Given the description of an element on the screen output the (x, y) to click on. 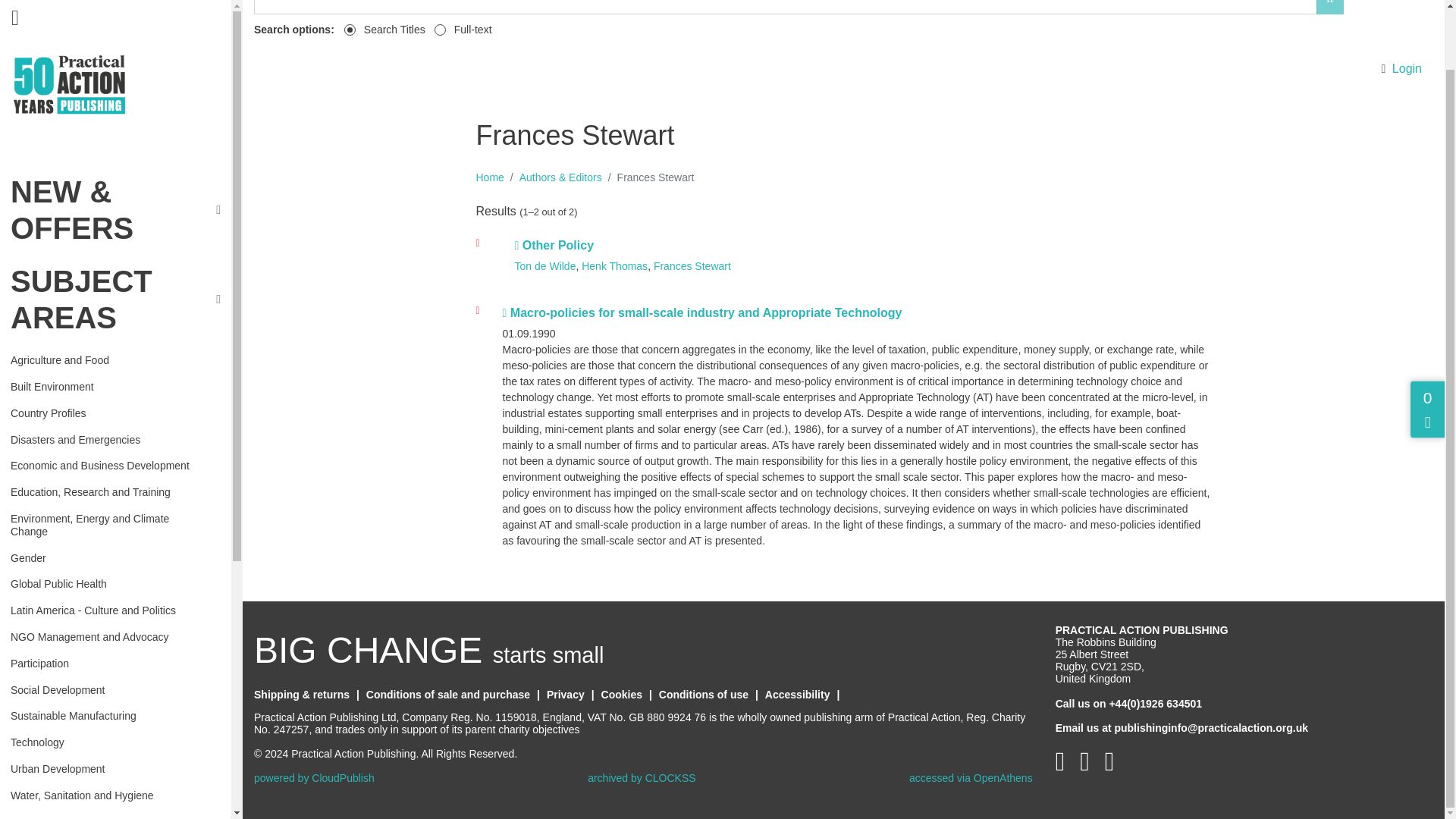
Sustainable Manufacturing (109, 650)
Built Environment (109, 322)
Environment, Energy and Climate Change (109, 459)
Agriculture and Food (109, 295)
Urban Development (109, 703)
Participation (109, 598)
Country Profiles (109, 348)
Social Development (109, 625)
Latin America - Culture and Politics (109, 545)
Disasters and Emergencies (109, 374)
